Given the description of an element on the screen output the (x, y) to click on. 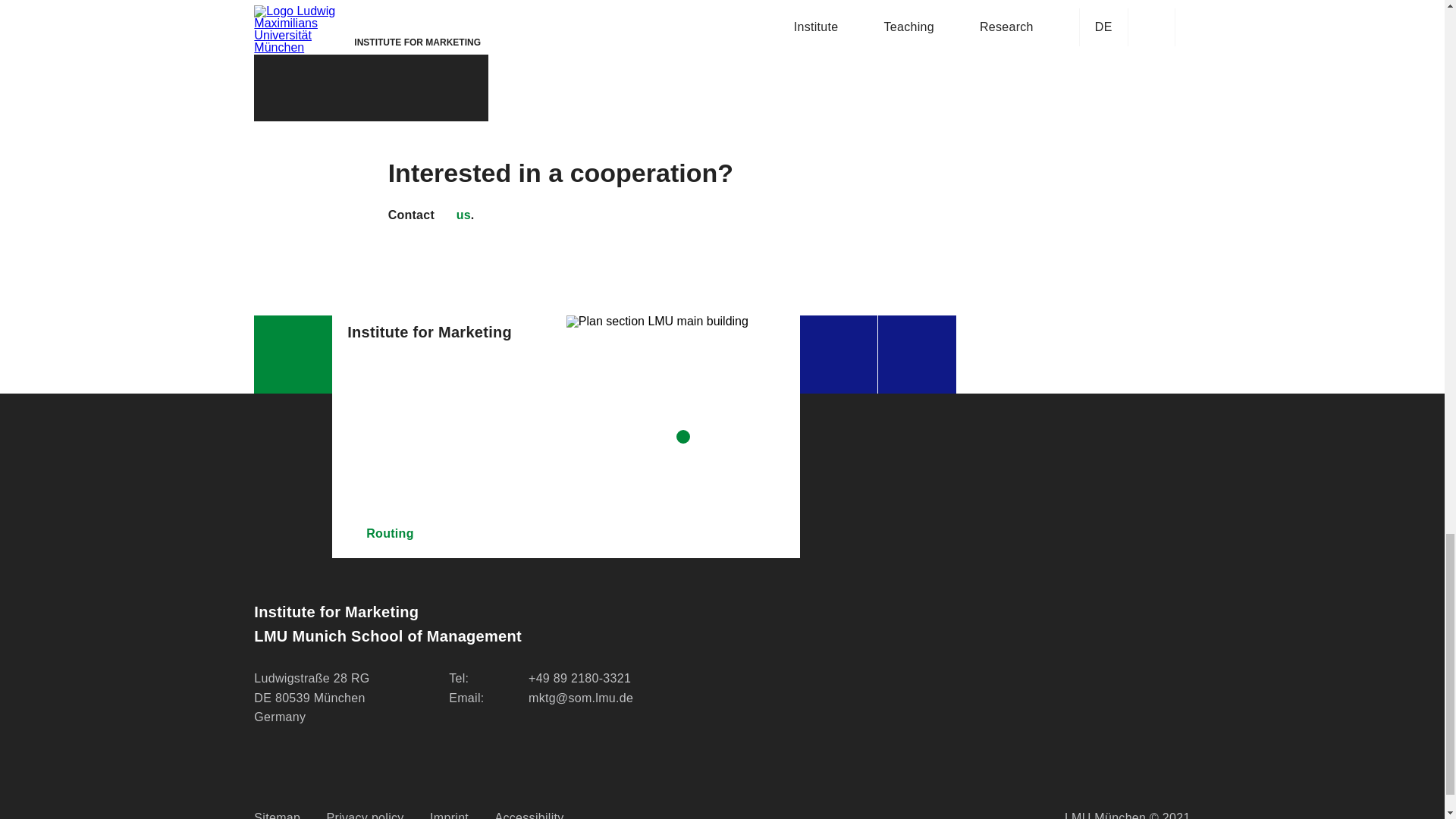
us (454, 215)
big little things (590, 13)
Read more (370, 92)
Routing (449, 533)
gutfeel (678, 13)
Home (292, 354)
LinkedIn-Link opens in a new window (838, 354)
visonation (775, 13)
Twitter-Link opens in a new window (916, 354)
Plan section LMU main building (683, 436)
